Given the description of an element on the screen output the (x, y) to click on. 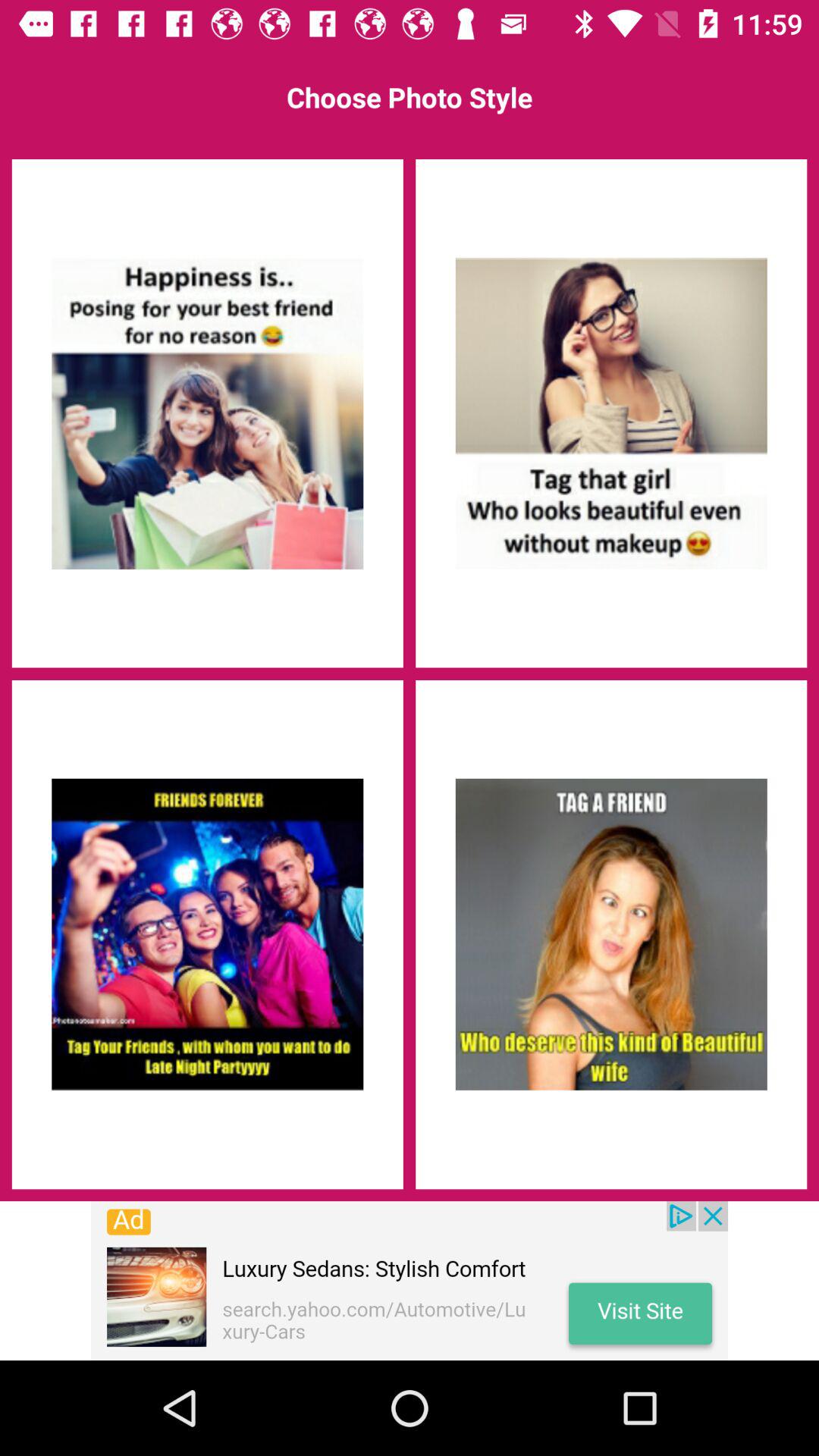
photo style 1 (207, 413)
